Given the description of an element on the screen output the (x, y) to click on. 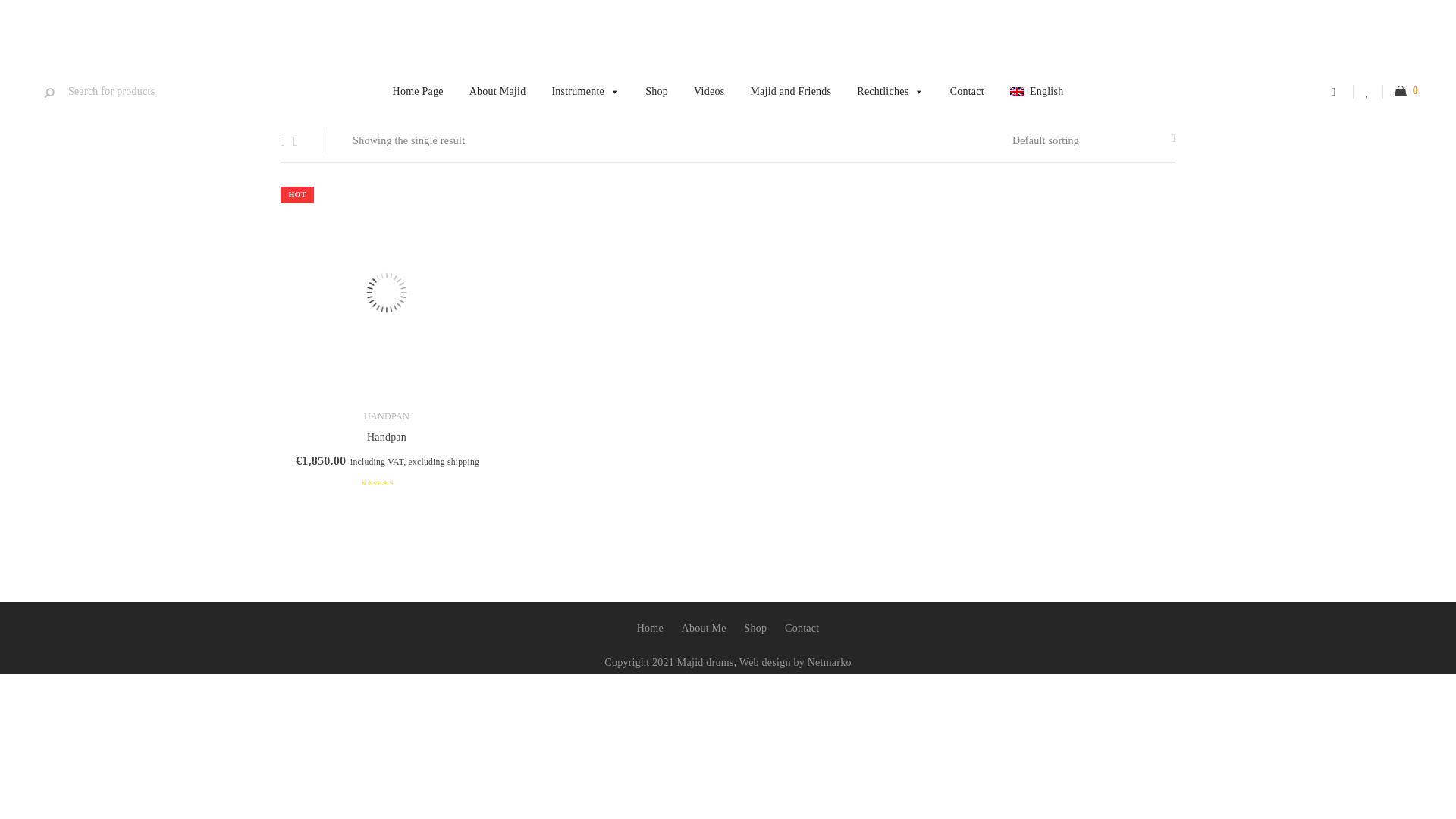
About Majid (497, 91)
Instrumente (584, 91)
Search (49, 92)
PayPal Message 1 (291, 36)
Home Page (418, 91)
Search (49, 92)
View your shopping bag (1406, 92)
English (1037, 91)
